Given the description of an element on the screen output the (x, y) to click on. 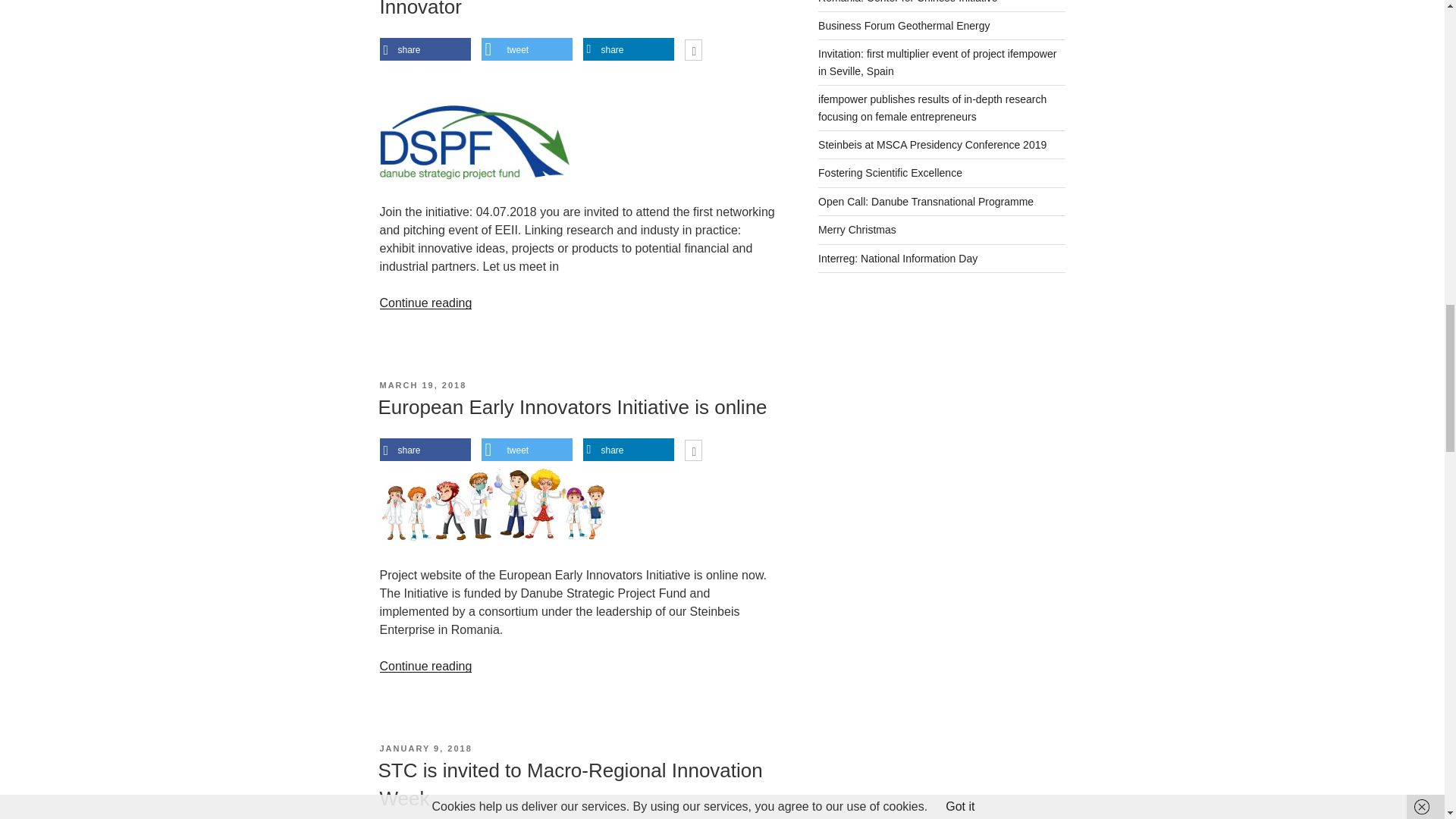
tweet (526, 49)
MARCH 19, 2018 (421, 384)
share (627, 449)
tweet (526, 449)
share (627, 49)
Share on LinkedIn (627, 49)
Continue reading (424, 666)
Invitation to become an European Early Innovator (549, 9)
Share on Facebook (424, 49)
European Early Innovators Initiative is online (572, 406)
share (424, 449)
share (424, 49)
Share on Twitter (526, 49)
